Given the description of an element on the screen output the (x, y) to click on. 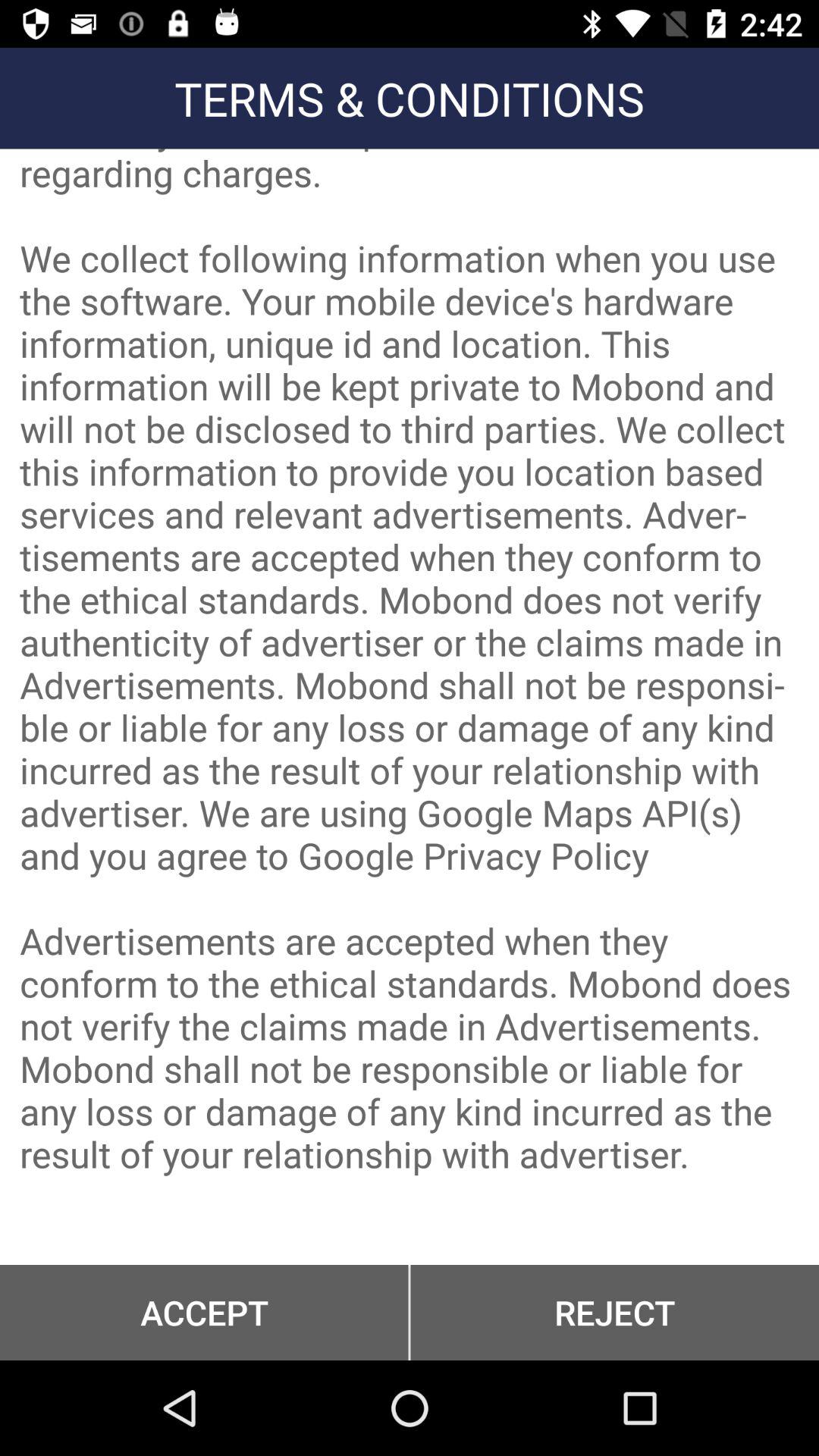
launch the reject button (614, 1312)
